Given the description of an element on the screen output the (x, y) to click on. 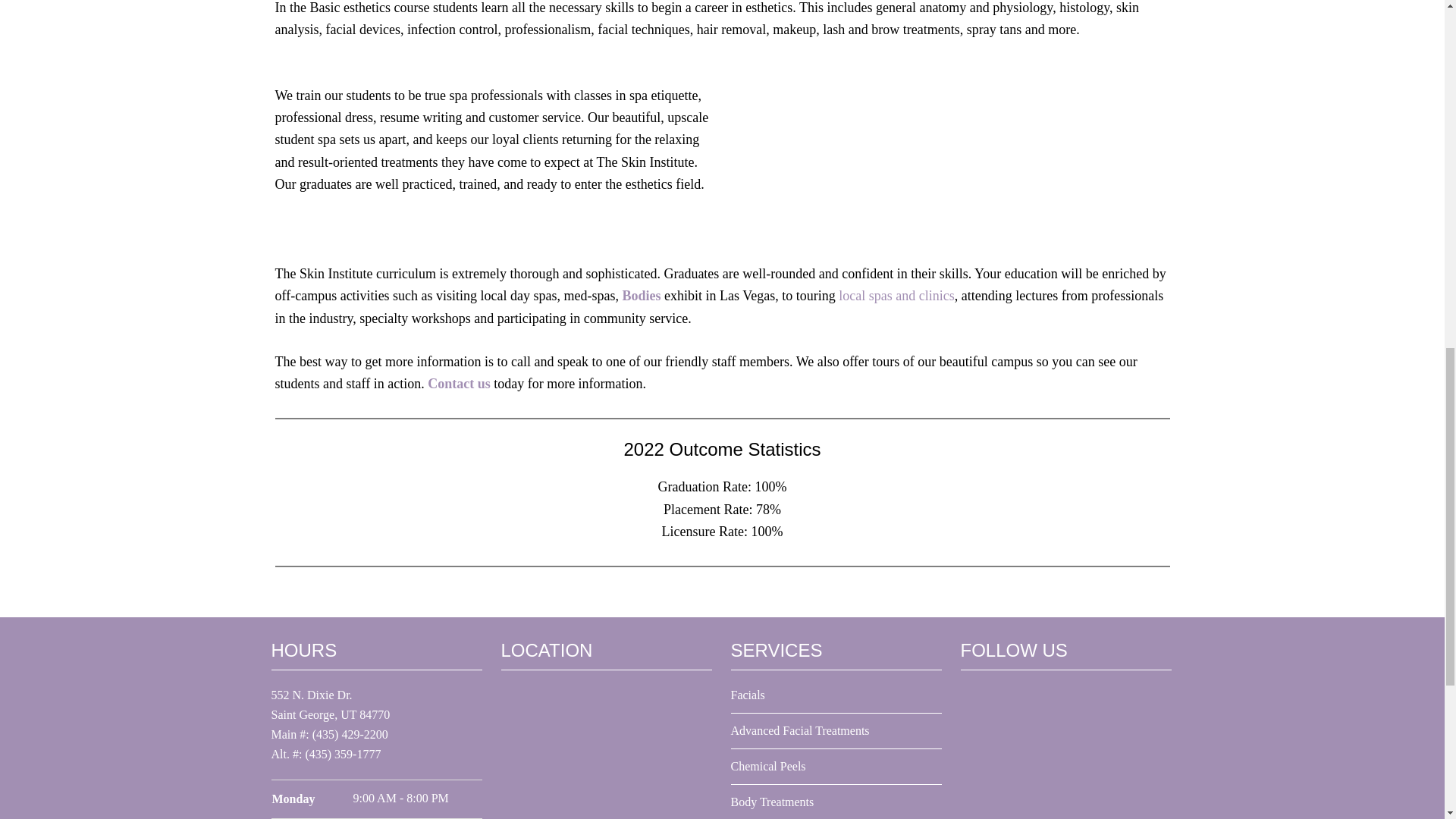
local spas and clinics (895, 295)
Contact us (459, 383)
Facials (747, 694)
Advanced Facial Treatments (799, 730)
Body Treatments (771, 801)
Bodies (642, 295)
Basic Esthetics Course (953, 150)
Chemical Peels (768, 766)
